Given the description of an element on the screen output the (x, y) to click on. 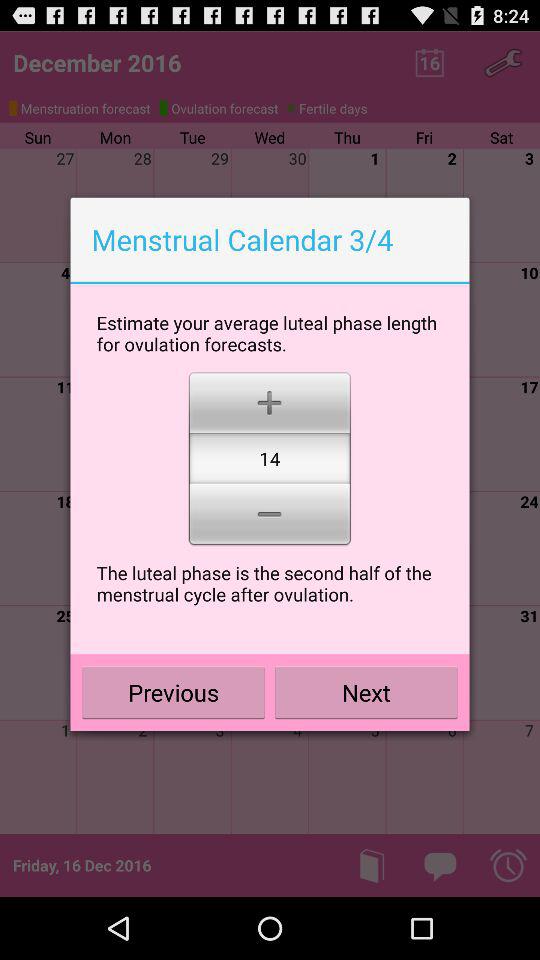
press icon next to the next button (173, 692)
